Given the description of an element on the screen output the (x, y) to click on. 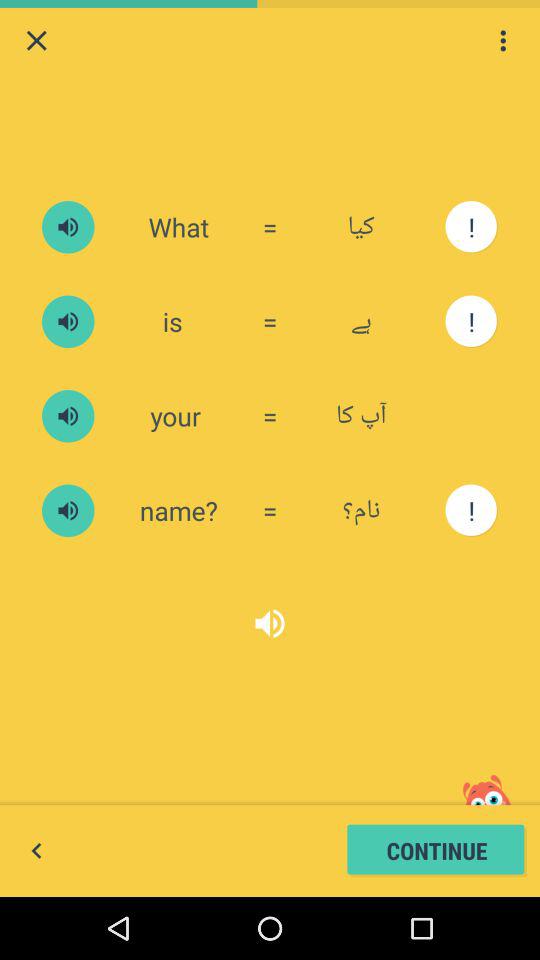
more from menu (503, 40)
